Given the description of an element on the screen output the (x, y) to click on. 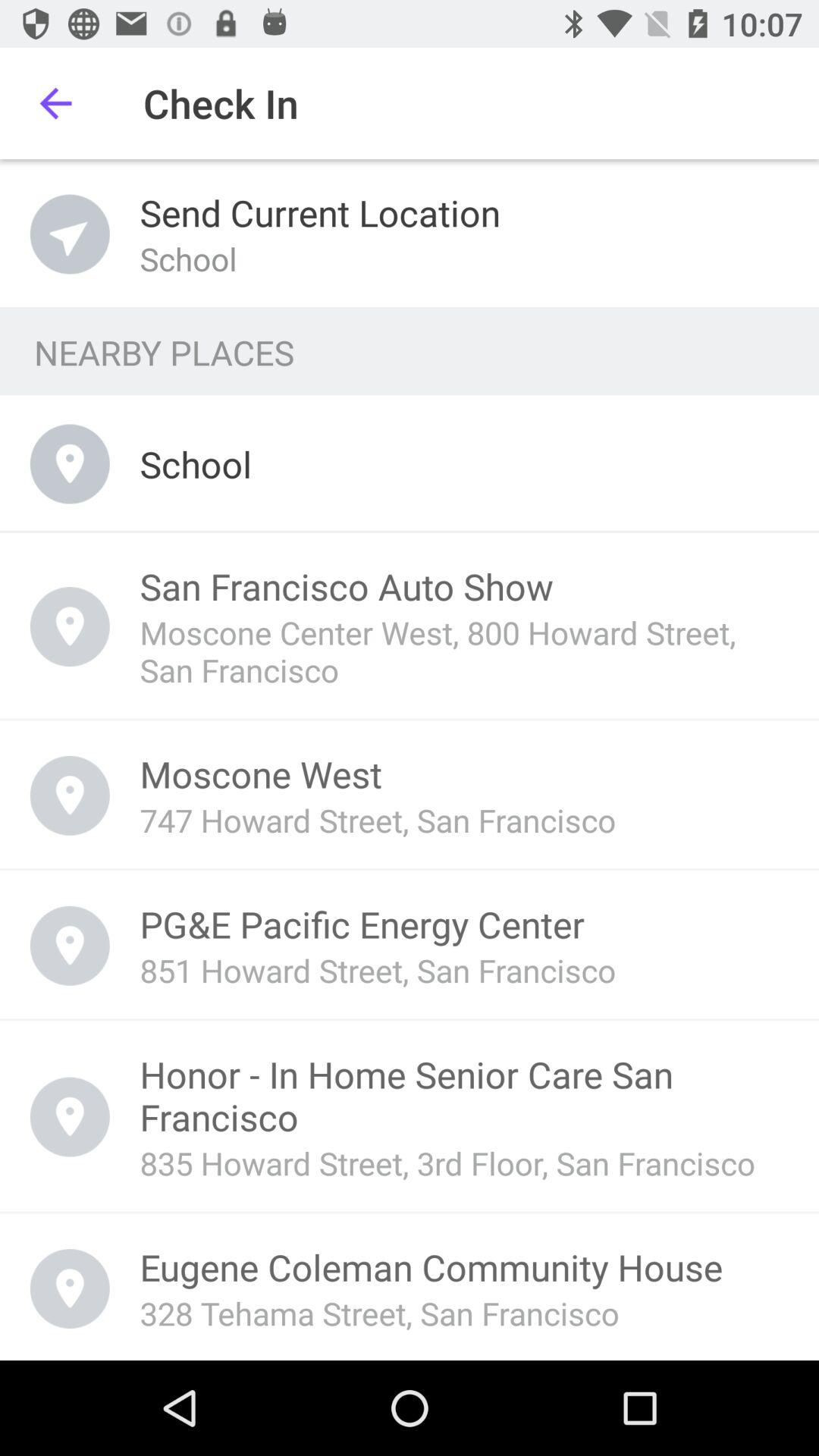
press icon to the left of check in item (55, 103)
